Given the description of an element on the screen output the (x, y) to click on. 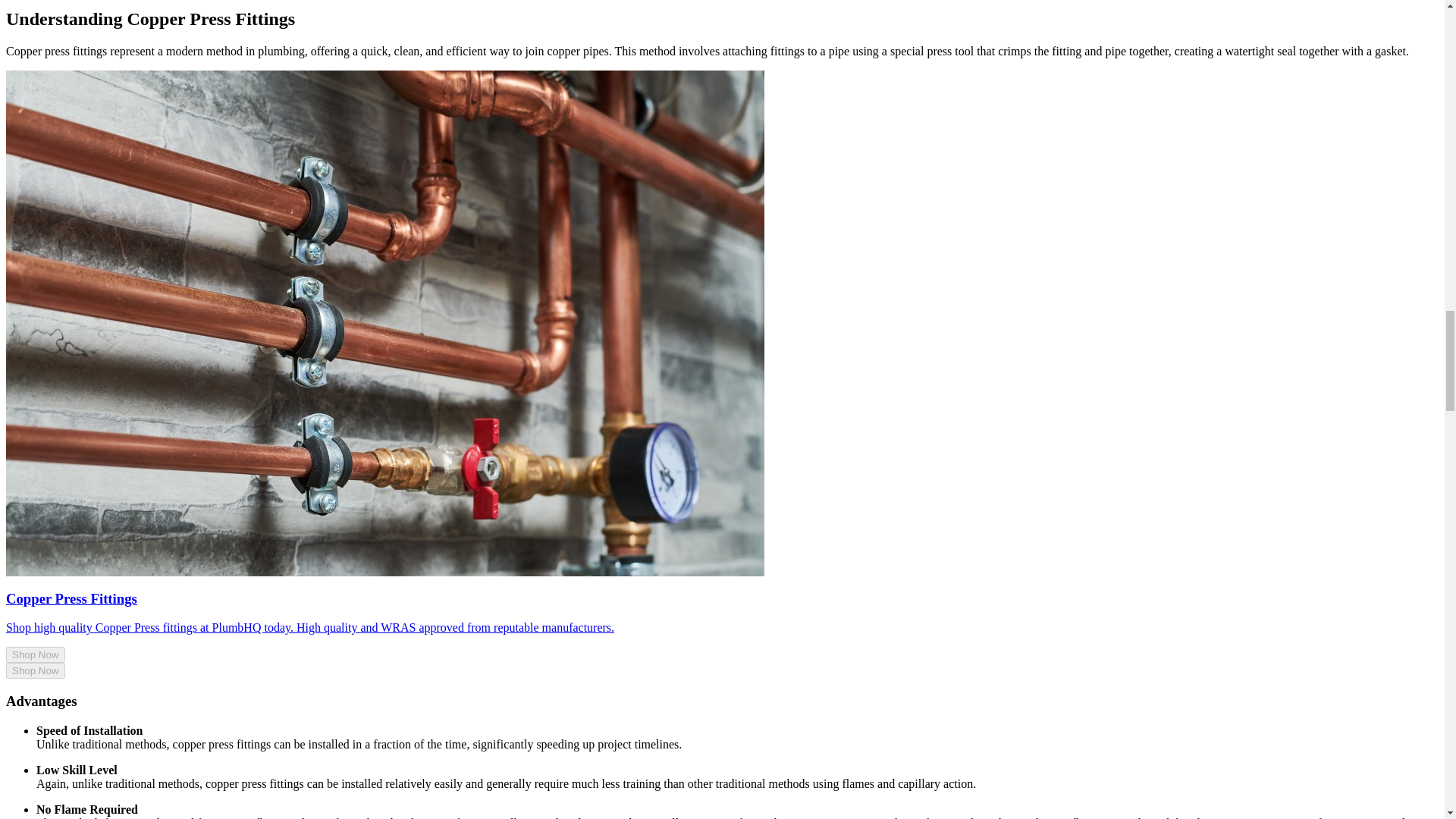
Shop Now (35, 654)
Shop Now (35, 670)
